Given the description of an element on the screen output the (x, y) to click on. 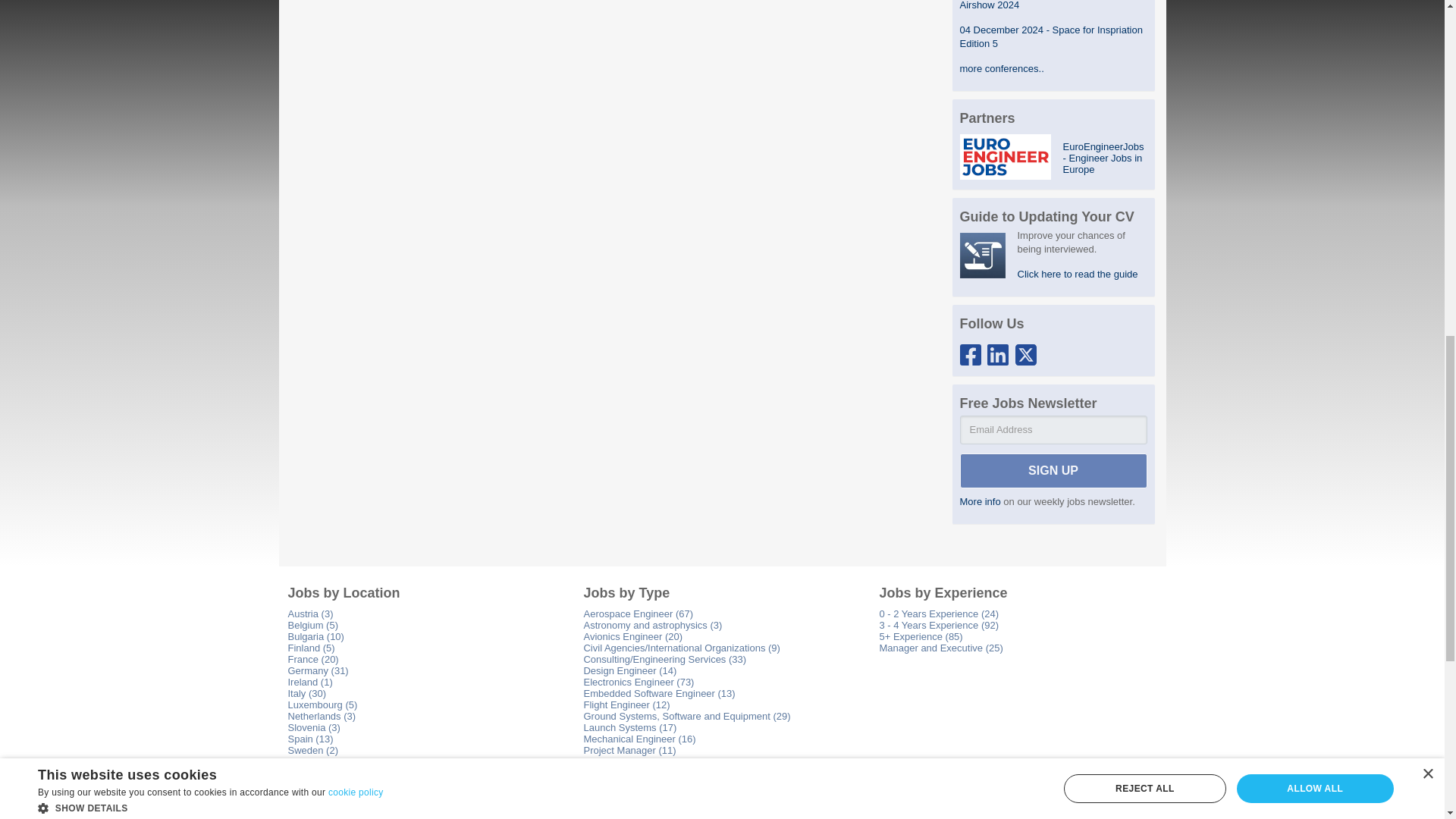
EuroEngineerJobs - Engineer Jobs in Europe (1104, 157)
EuroEngineerJobs - Engineer Jobs in Europe (1005, 157)
SIGN UP (1053, 470)
